Given the description of an element on the screen output the (x, y) to click on. 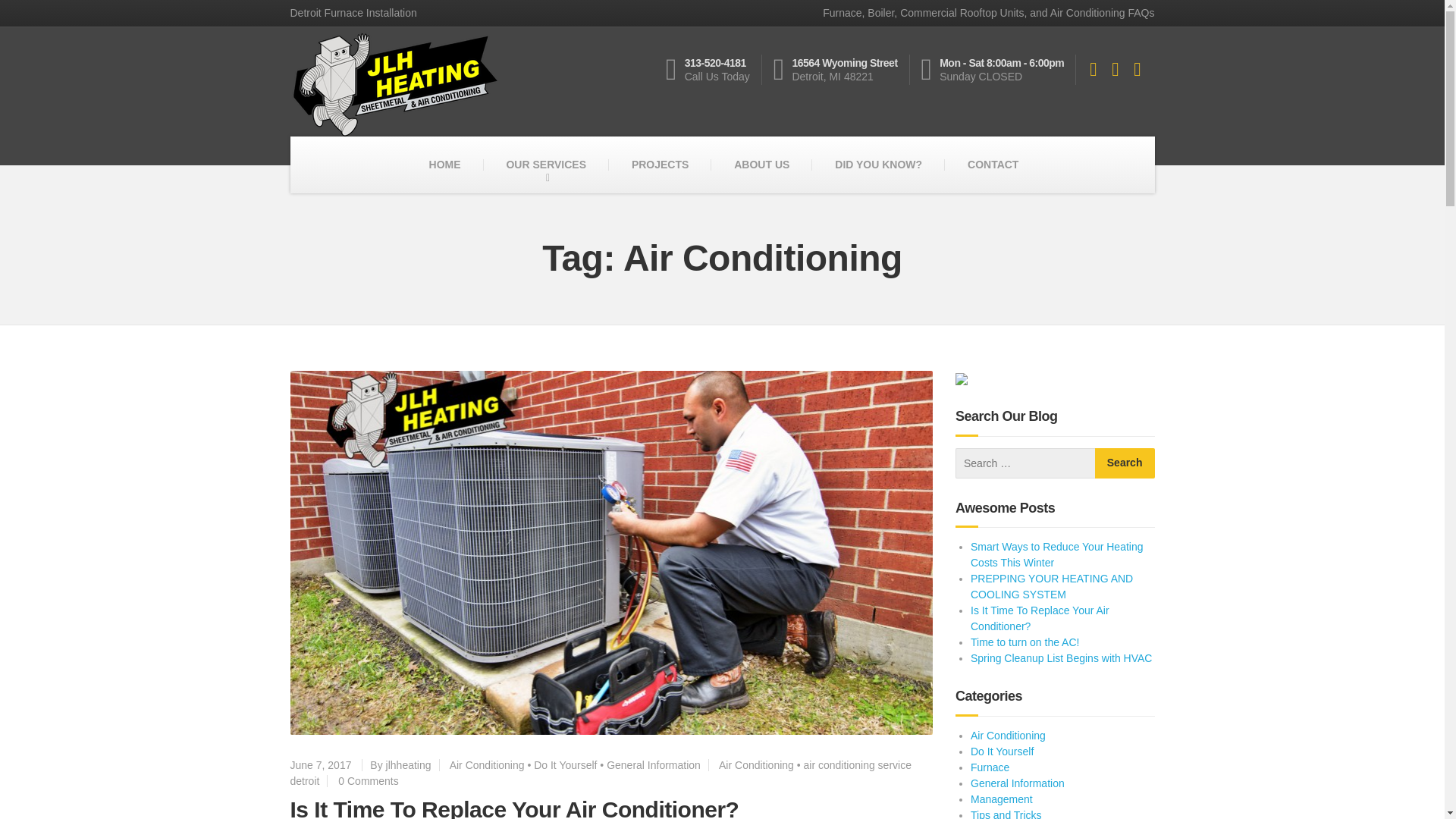
HOME (444, 164)
General Information (653, 764)
air conditioning service detroit (713, 69)
Air Conditioning (600, 772)
Is It Time To Replace Your Air Conditioner? (756, 764)
PROJECTS (513, 807)
CONTACT (659, 164)
Search (992, 164)
Search (1124, 462)
ABOUT US (1124, 462)
Air Conditioning (761, 164)
DID YOU KNOW? (486, 764)
Do It Yourself (878, 164)
OUR SERVICES (565, 764)
